Given the description of an element on the screen output the (x, y) to click on. 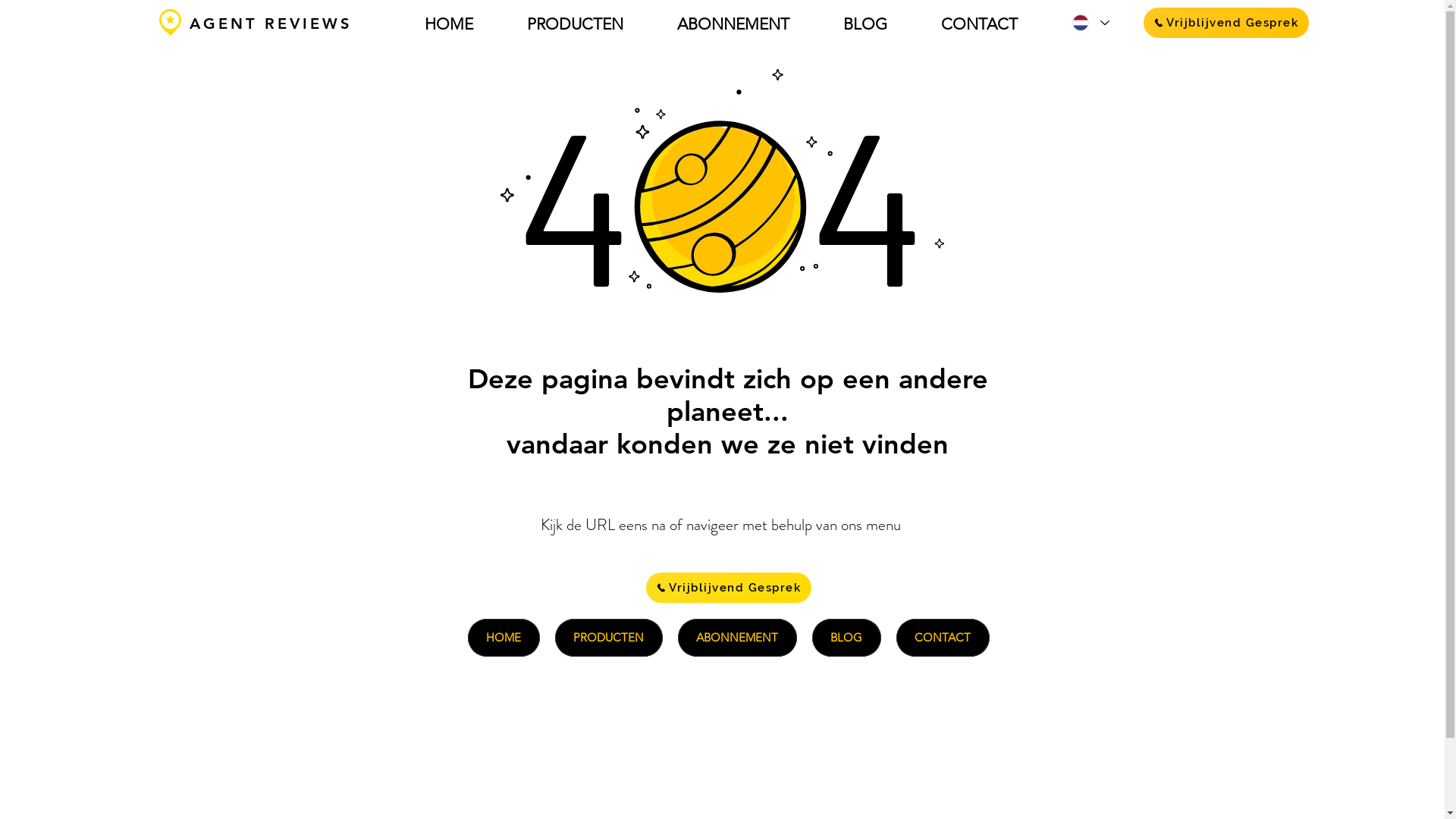
ABONNEMENT Element type: text (733, 24)
CONTACT Element type: text (979, 24)
HOME Element type: text (448, 24)
CONTACT Element type: text (942, 637)
PRODUCTEN Element type: text (608, 637)
ABONNEMENT Element type: text (737, 637)
BLOG Element type: text (864, 24)
BLOG Element type: text (845, 637)
HOME Element type: text (503, 637)
Vrijblijvend Gesprek Element type: text (728, 587)
Vrijblijvend Gesprek Element type: text (1225, 22)
PRODUCTEN Element type: text (575, 24)
